Given the description of an element on the screen output the (x, y) to click on. 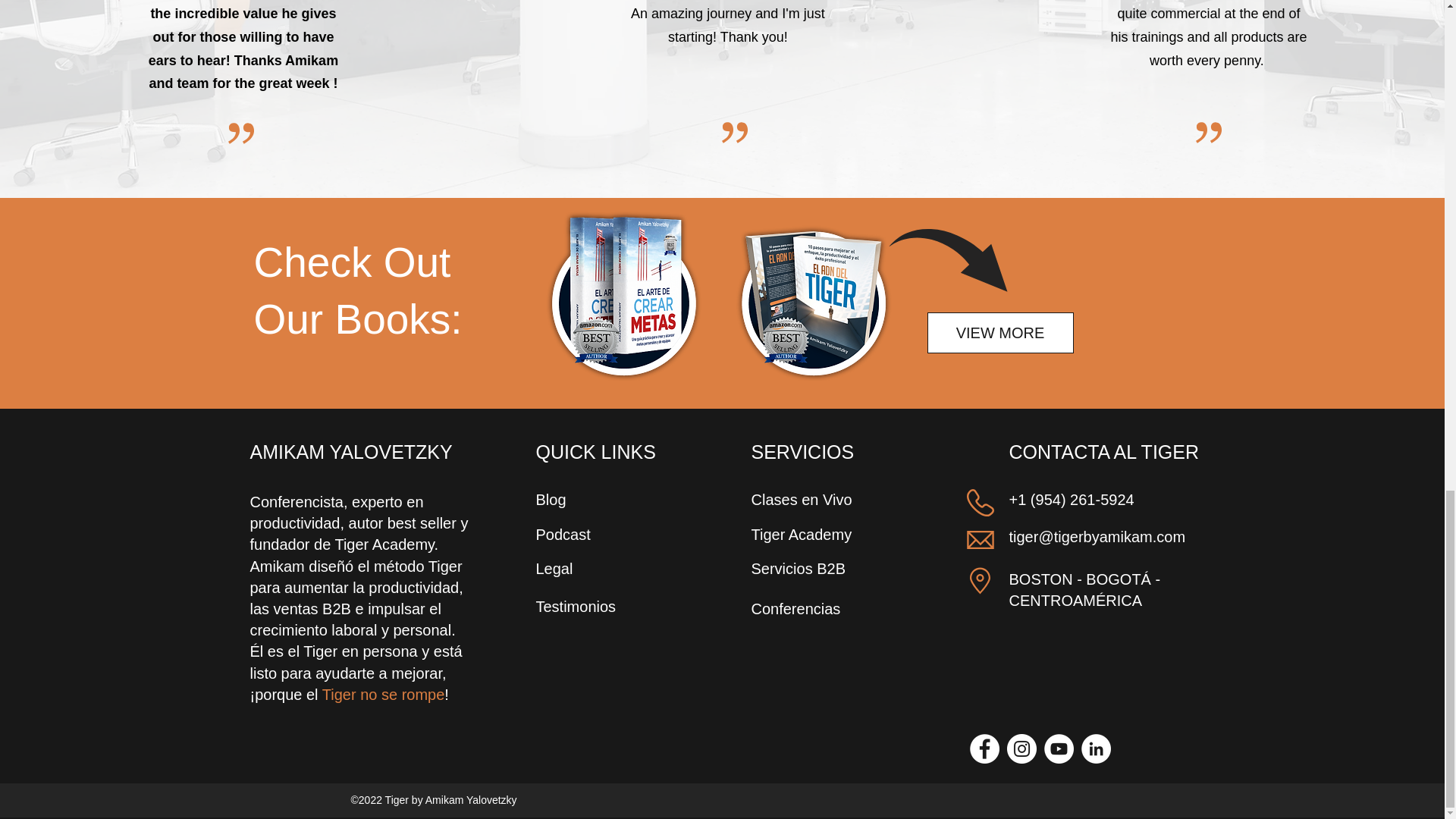
Legal (553, 568)
VIEW MORE (999, 332)
Servicios B2B (798, 568)
Testimonios (575, 606)
Blog (550, 499)
Tiger Academy (801, 534)
Conferencias (795, 608)
Podcast (562, 534)
Clases en Vivo (801, 499)
AMIKAM YALOVETZKY (351, 451)
